Given the description of an element on the screen output the (x, y) to click on. 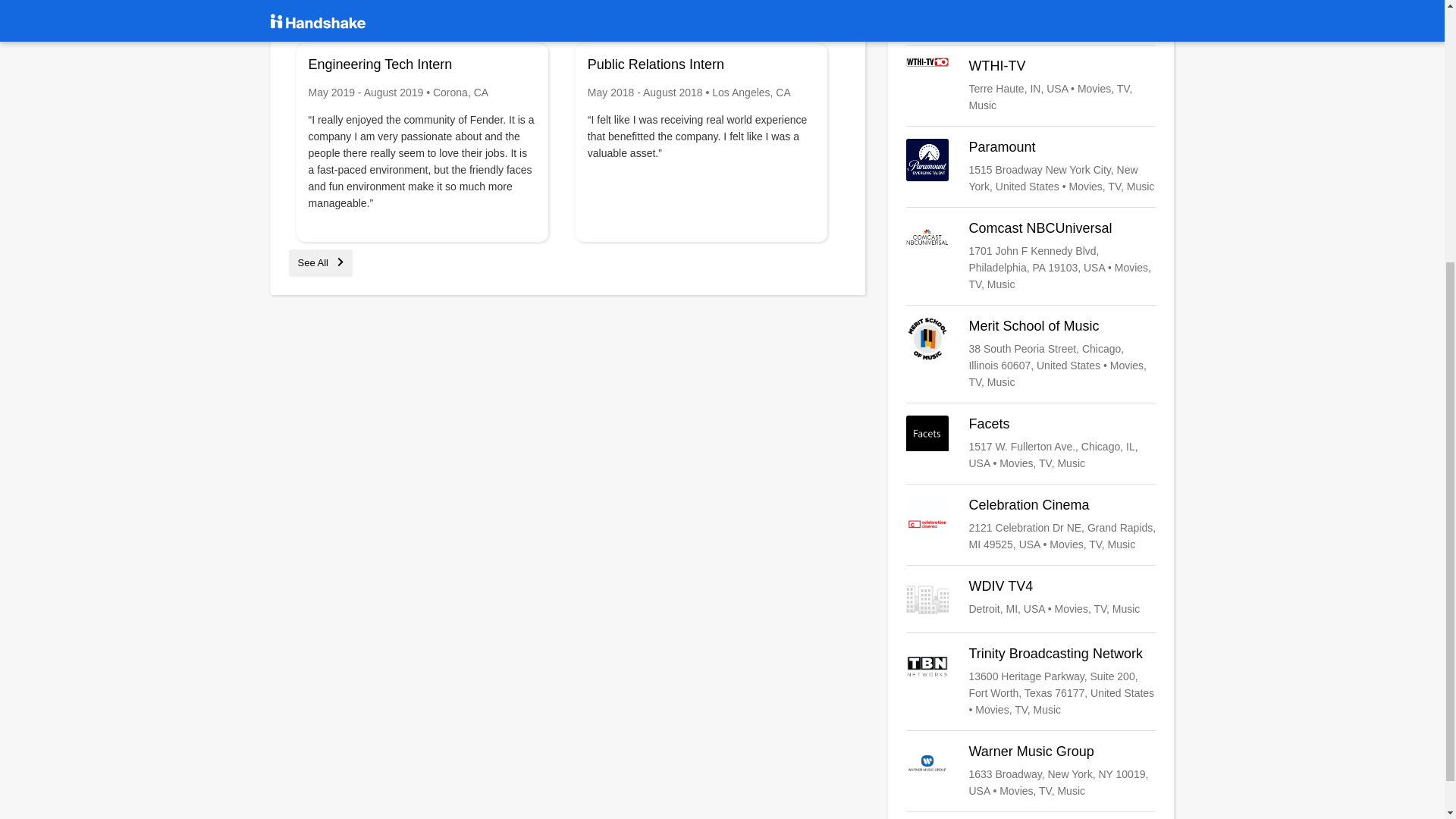
See All (320, 262)
Merit School of Music (1030, 353)
WDIV TV4 (1030, 598)
Facets (1030, 443)
Trinity Broadcasting Network (1030, 681)
Celebration Cinema (1030, 524)
Comcast NBCUniversal (1030, 256)
Detroit Public Television (1030, 16)
WTHI-TV (1030, 85)
Paramount (1030, 166)
Warner Music Group (1030, 770)
